Given the description of an element on the screen output the (x, y) to click on. 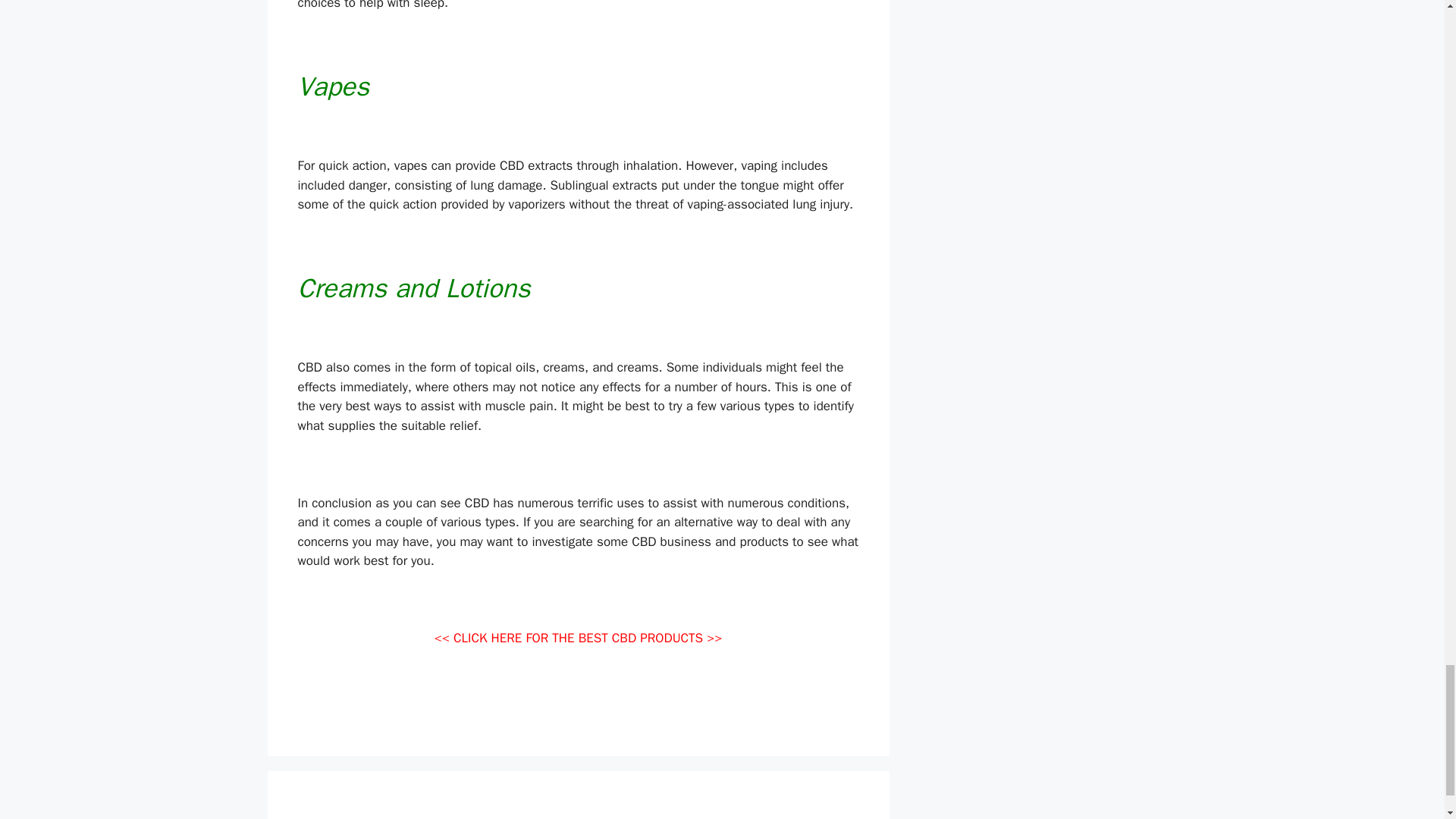
sunny cbd melania trump (368, 715)
melania trump and cbd business (531, 715)
